Given the description of an element on the screen output the (x, y) to click on. 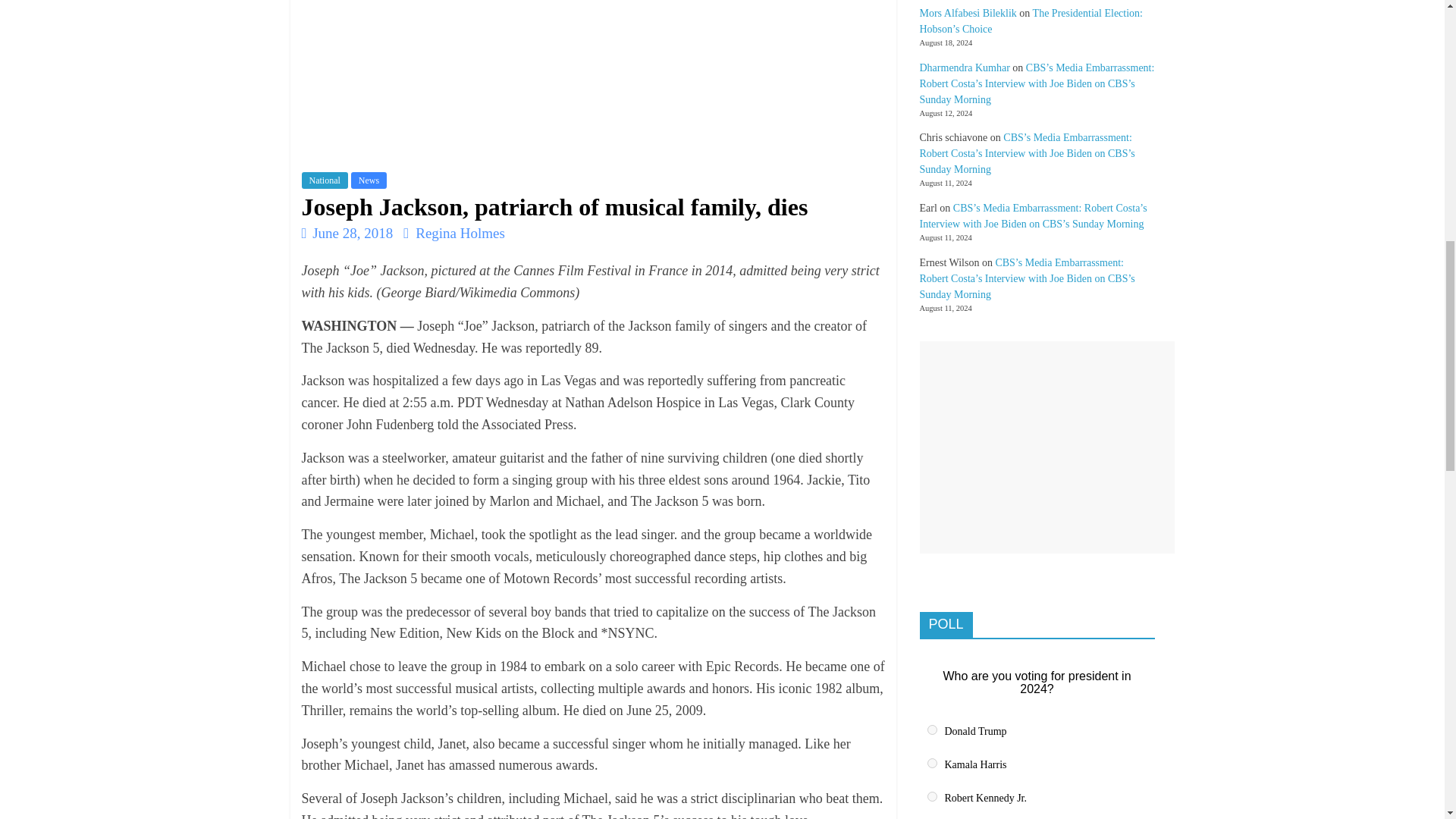
Mors Alfabesi Bileklik (967, 12)
June 28, 2018 (347, 232)
2 (931, 763)
3 (931, 796)
1 (931, 729)
3:24 PM (347, 232)
Regina Holmes (459, 232)
National (324, 180)
Regina Holmes (459, 232)
News (368, 180)
